Given the description of an element on the screen output the (x, y) to click on. 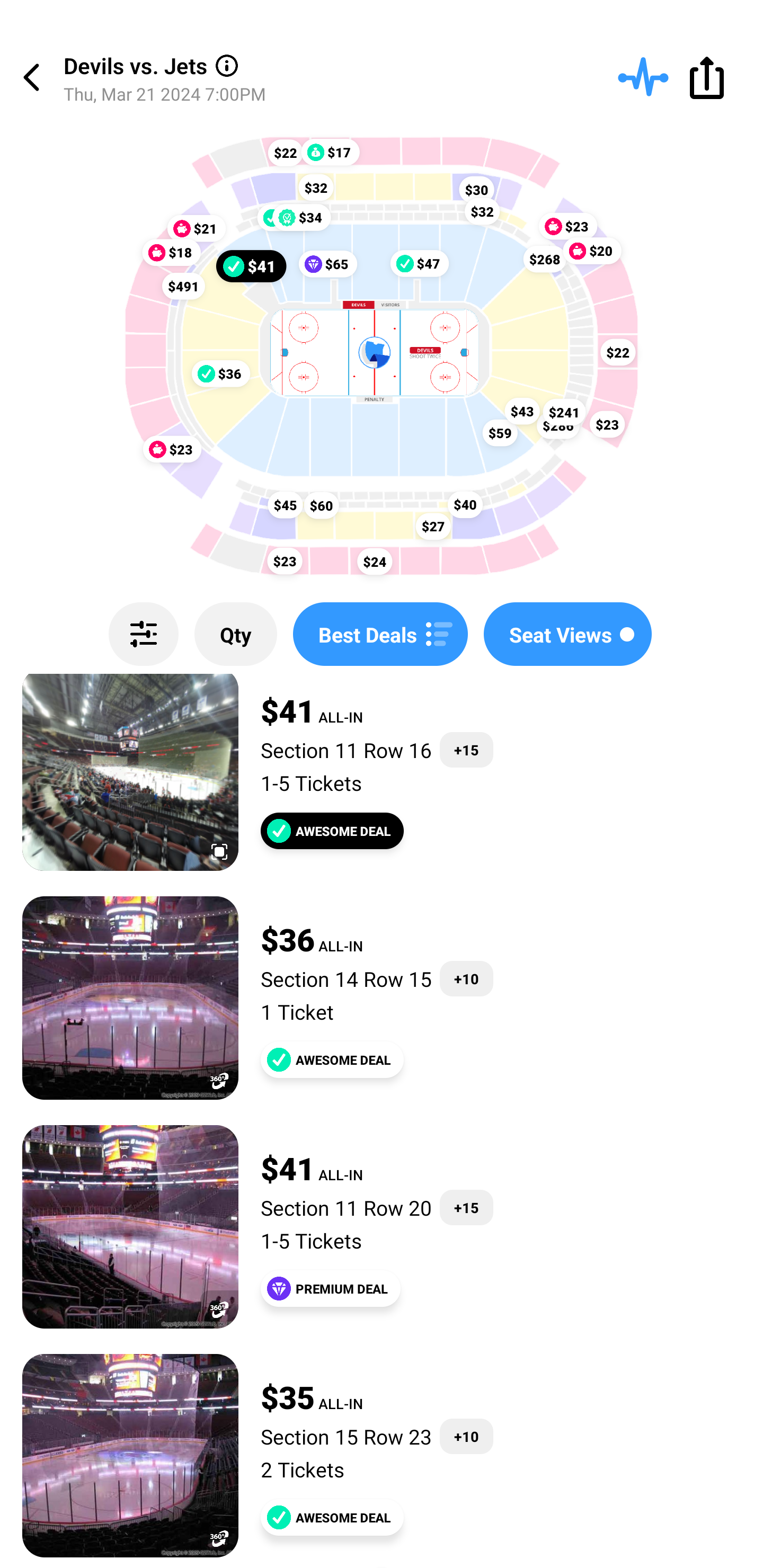
$41 (250, 265)
$47 (419, 263)
$65 (328, 263)
$43 (522, 411)
$59 (499, 432)
Qty (235, 634)
Best Deals (379, 634)
Seat Views (567, 634)
+15 (466, 750)
AWESOME DEAL (331, 830)
+10 (466, 978)
AWESOME DEAL (331, 1059)
+15 (466, 1207)
PREMIUM DEAL (330, 1288)
+10 (466, 1436)
AWESOME DEAL (331, 1517)
